Given the description of an element on the screen output the (x, y) to click on. 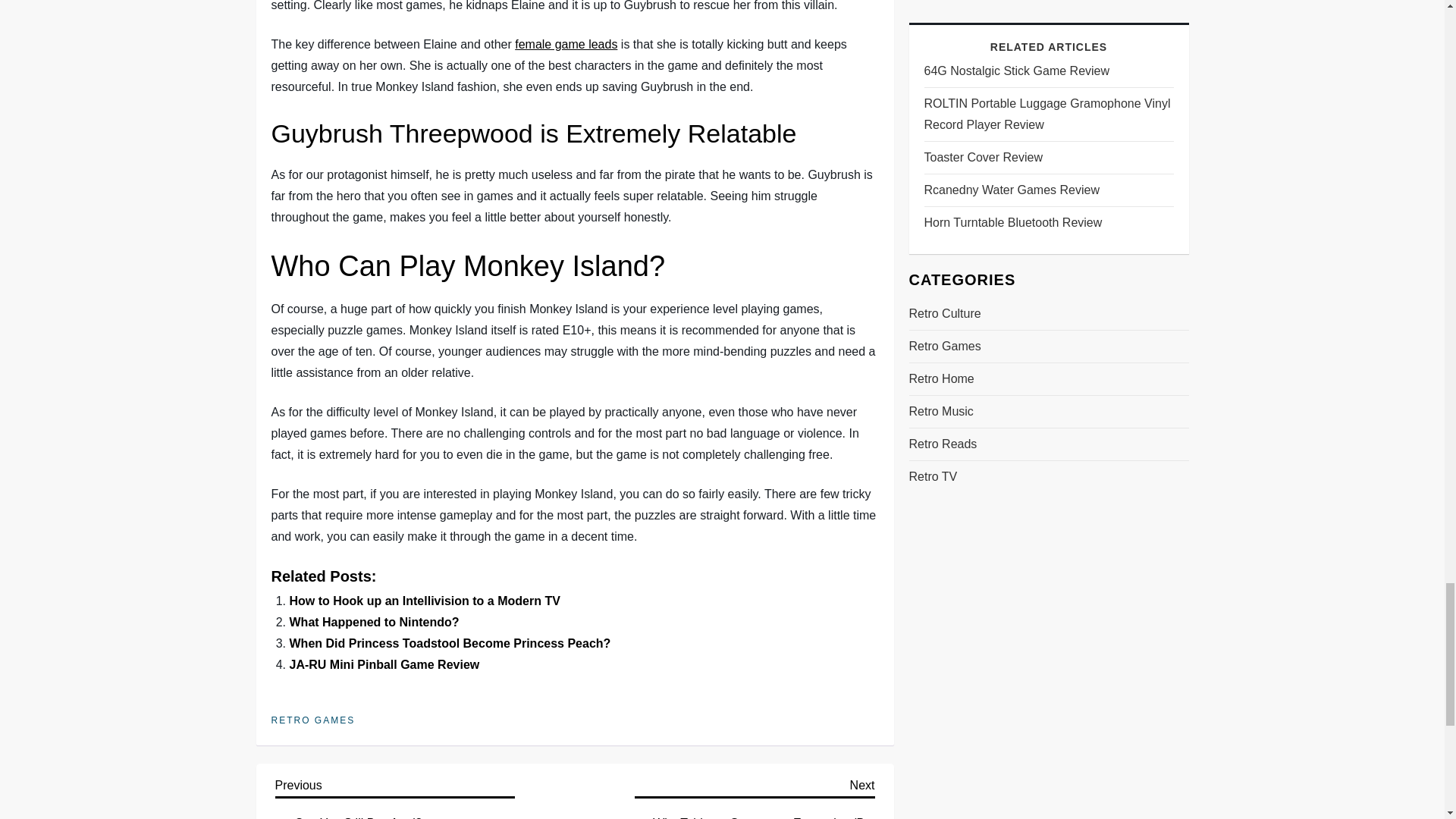
female game leads (566, 43)
